Given the description of an element on the screen output the (x, y) to click on. 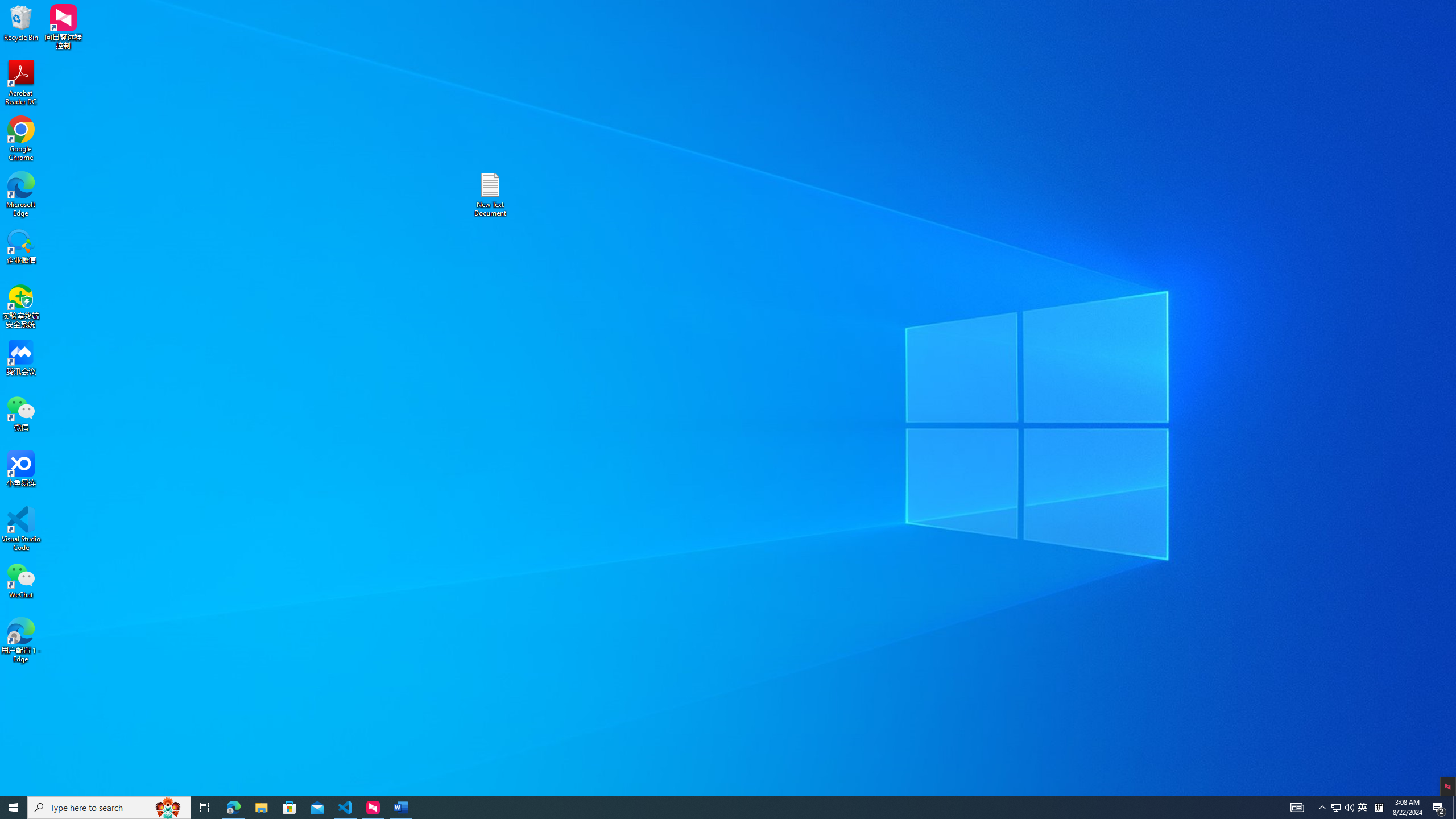
Intense Reference (1014, 56)
Type here to search (108, 807)
Tray Input Indicator - Chinese (Simplified, China) (1378, 807)
Microsoft search (742, 9)
Q2790: 100% (1349, 807)
User Promoted Notification Area (1362, 807)
Page 1 content (1342, 807)
